Given the description of an element on the screen output the (x, y) to click on. 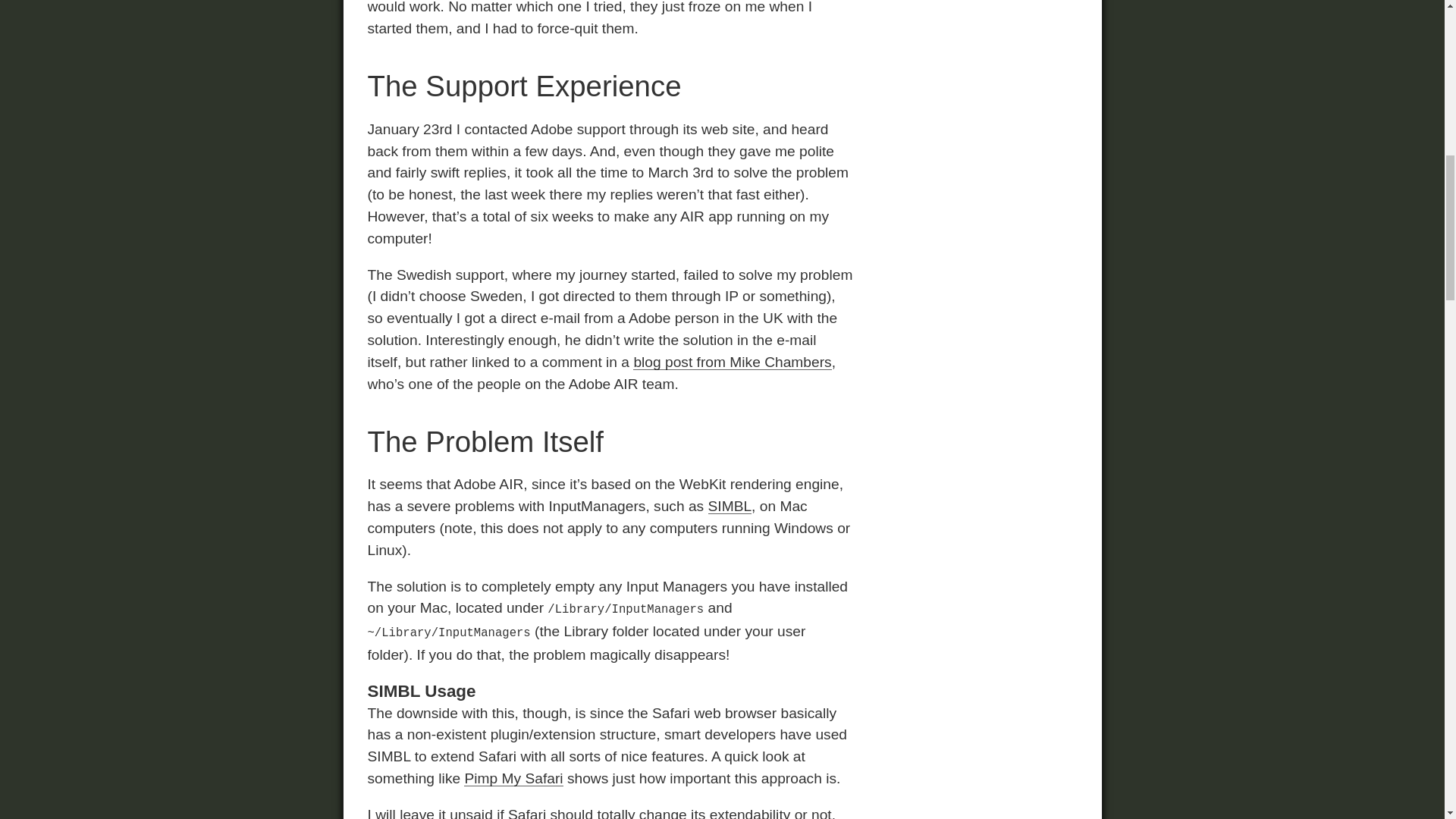
Pimp My Safari (513, 778)
SIMBL (729, 505)
blog post from Mike Chambers (732, 361)
